Given the description of an element on the screen output the (x, y) to click on. 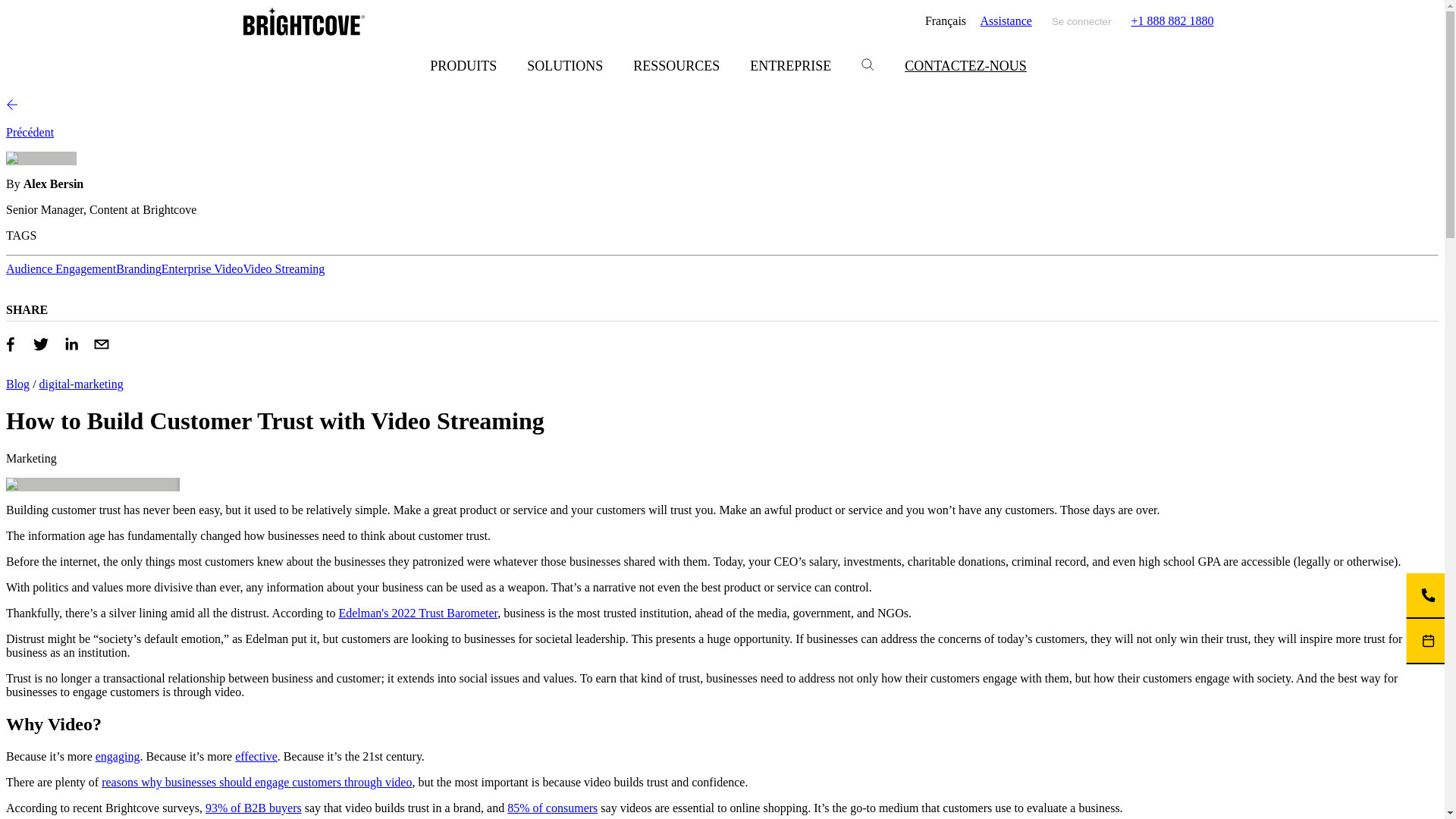
Blog (17, 383)
CONTACTEZ-NOUS (965, 66)
effective (256, 756)
Branding (138, 268)
How to Use Video to Boost Your Brand Perception (256, 781)
reasons why businesses should engage customers through video (256, 781)
Assistance (1005, 20)
digital-marketing (81, 383)
The Value of Visuals (117, 756)
Video Streaming (283, 268)
